Given the description of an element on the screen output the (x, y) to click on. 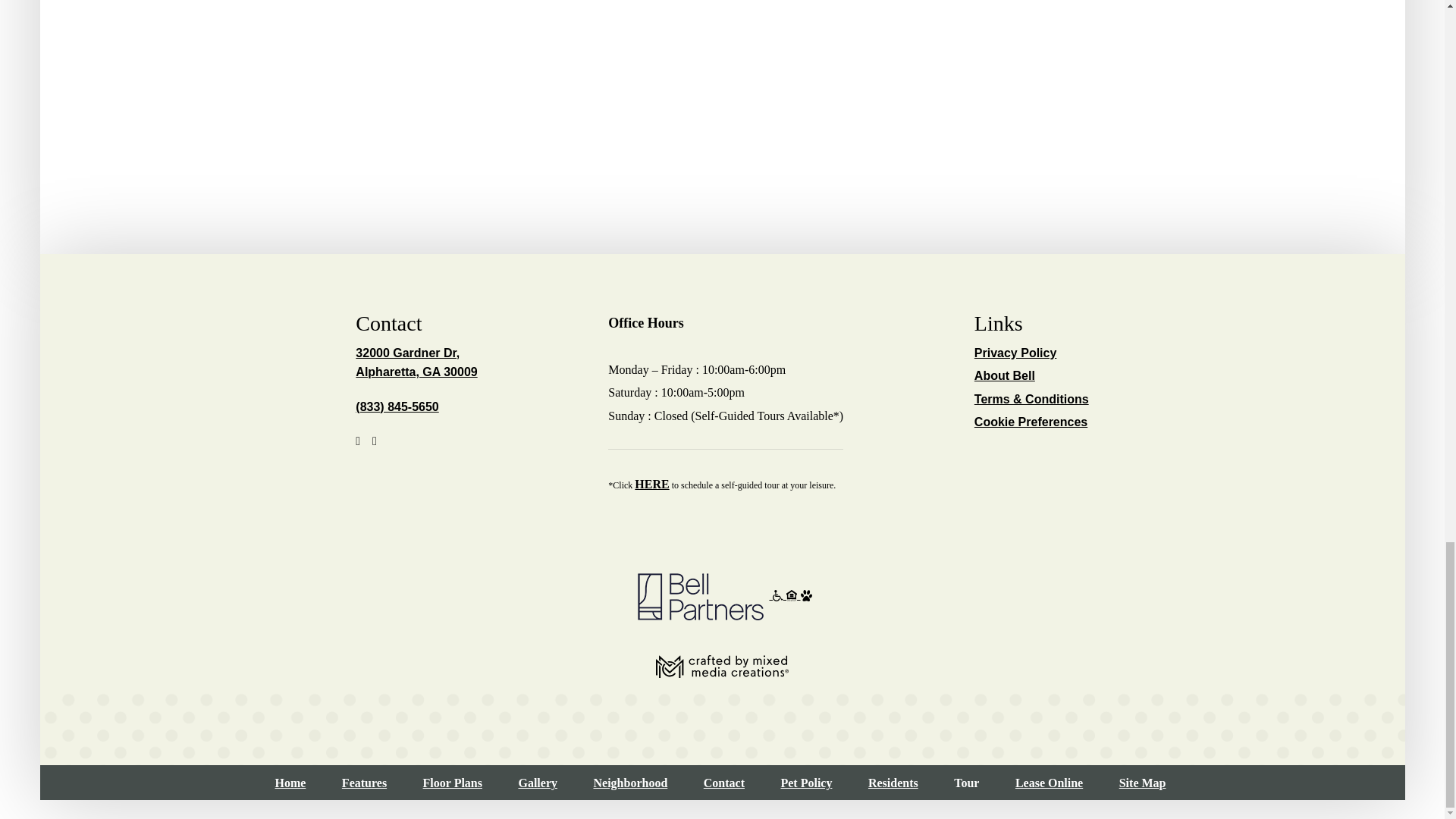
Contact (723, 782)
Gallery (537, 782)
About Bell (1004, 375)
Home (416, 362)
Privacy Policy (290, 782)
Floor Plans (1015, 352)
HERE (452, 782)
Neighborhood (651, 483)
Cookie Preferences (629, 782)
